Given the description of an element on the screen output the (x, y) to click on. 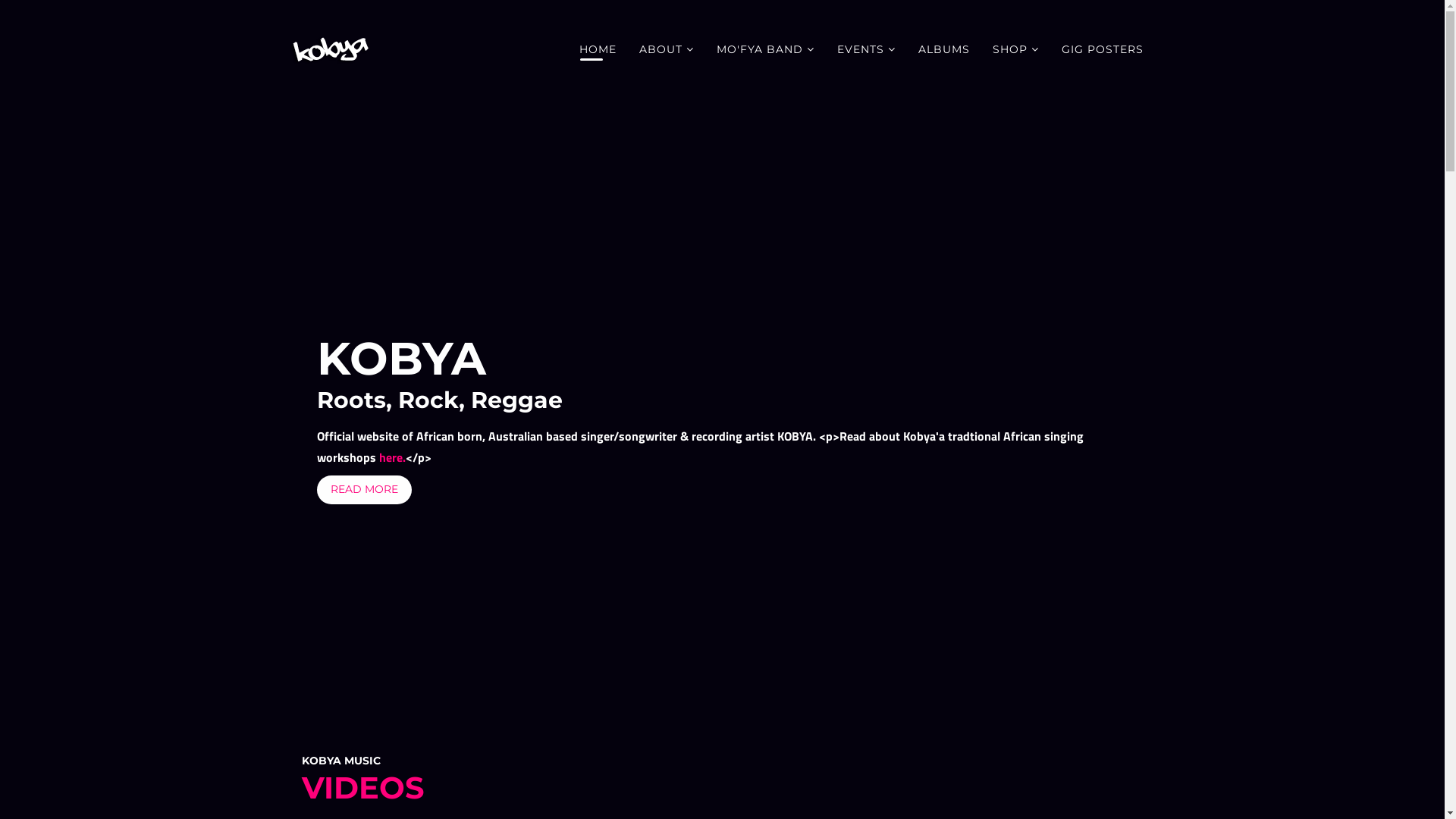
GIG POSTERS Element type: text (1101, 49)
ALBUMS Element type: text (943, 49)
here. Element type: text (392, 457)
HOME Element type: text (597, 49)
SHOP Element type: text (1015, 49)
ABOUT Element type: text (666, 49)
EVENTS Element type: text (865, 49)
MO'FYA BAND Element type: text (765, 49)
READ MORE Element type: text (363, 489)
